Given the description of an element on the screen output the (x, y) to click on. 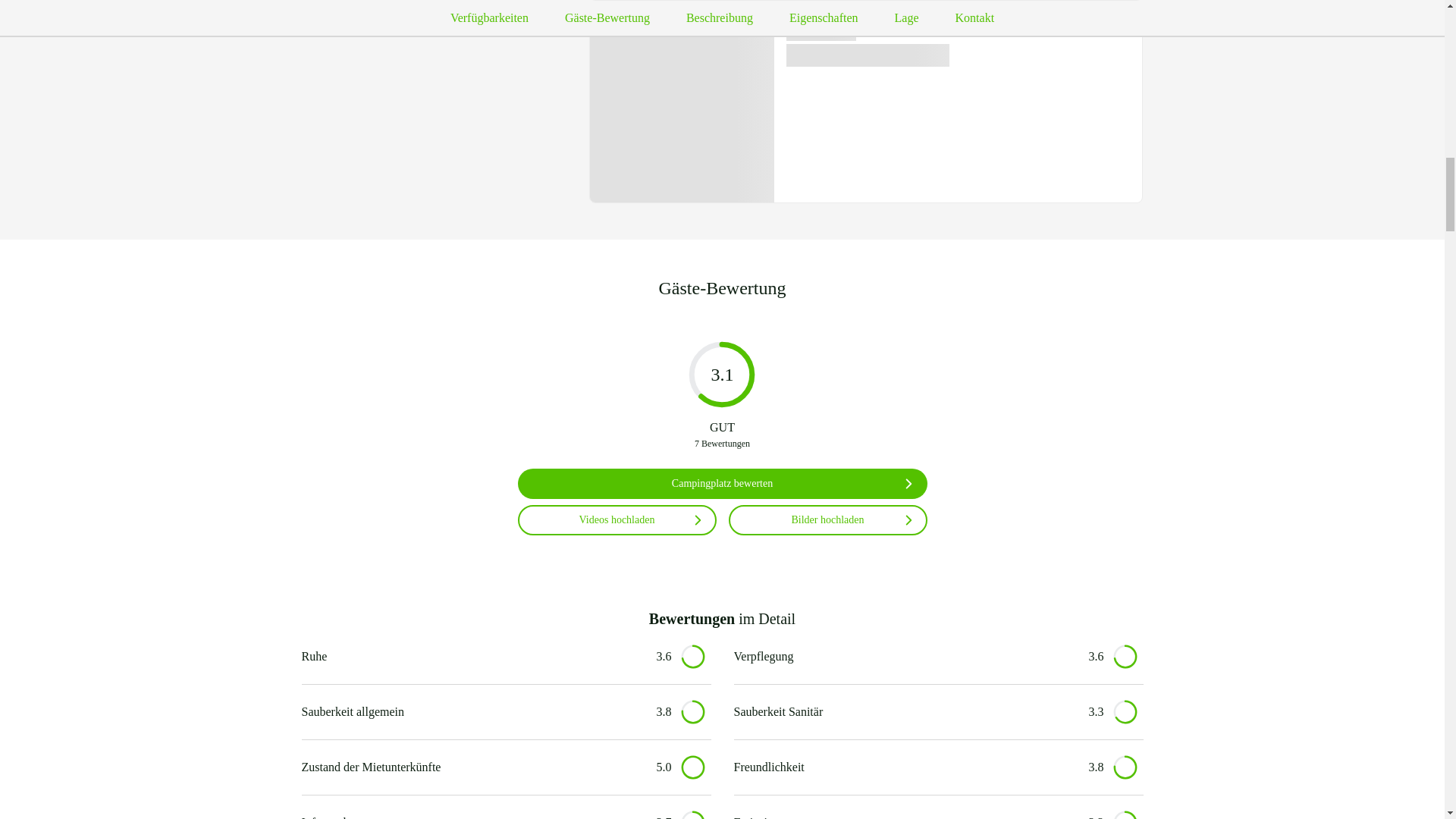
Freundlichkeit (904, 767)
Ruhe (472, 656)
Verpflegung (904, 656)
Campingplatz bewerten (721, 483)
Freizeit (904, 816)
Infrastruktur (472, 816)
Bilder hochladen (827, 520)
Videos hochladen (616, 520)
Sauberkeit allgemein (472, 710)
